Given the description of an element on the screen output the (x, y) to click on. 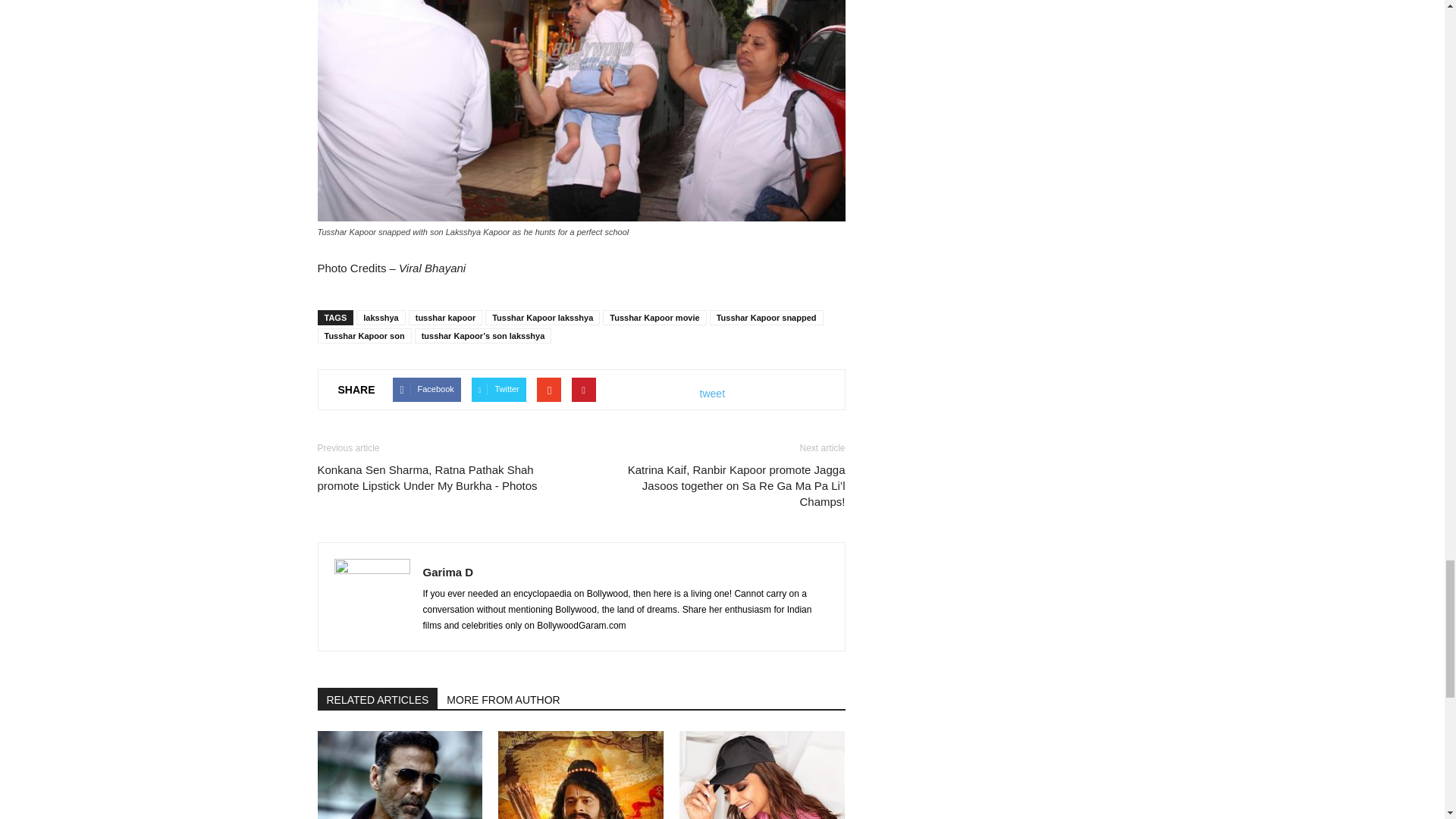
Welcome 3 ready to go on floors (399, 775)
Adipurush ready to be released on OTT (580, 775)
